Given the description of an element on the screen output the (x, y) to click on. 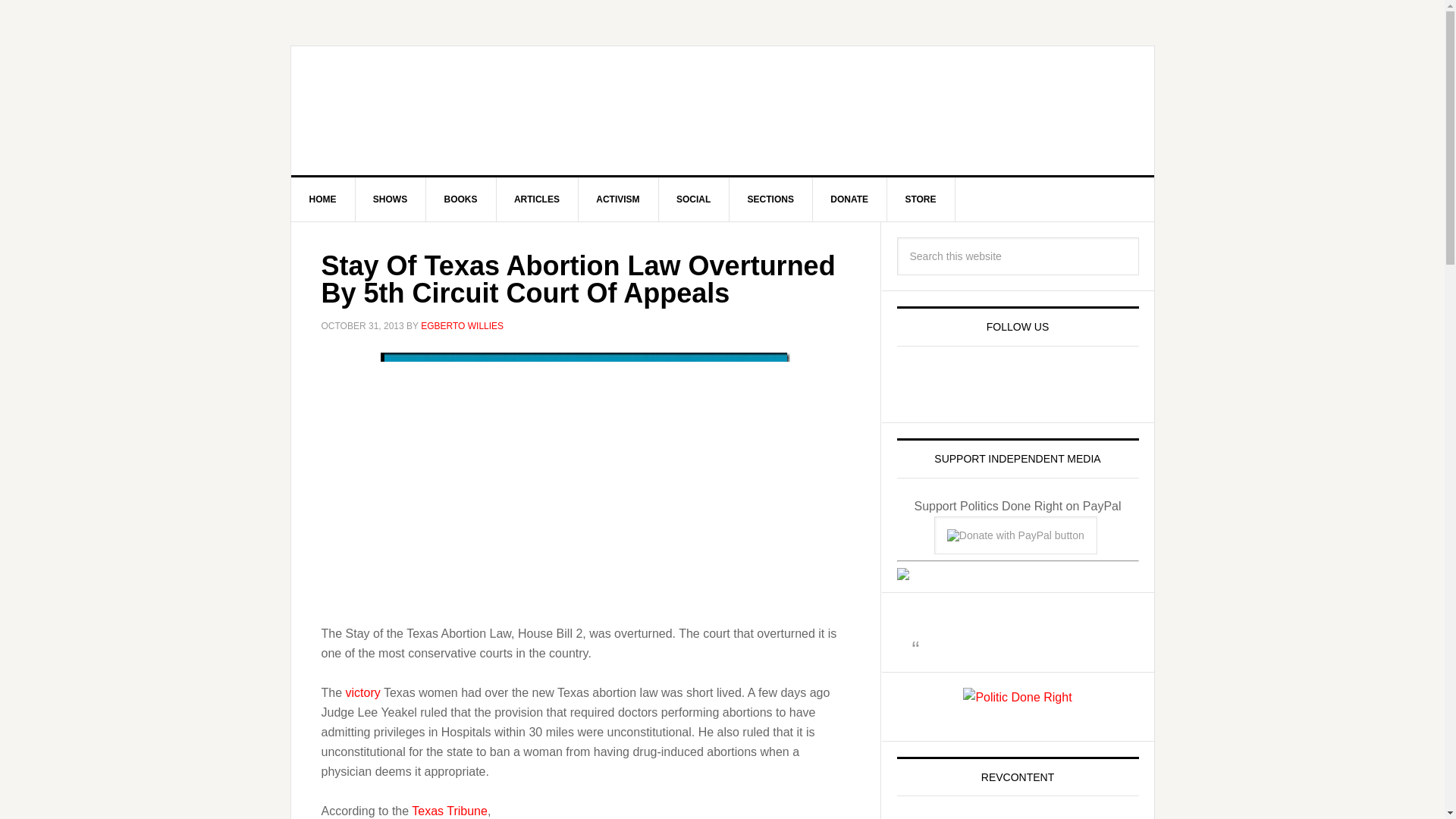
ARTICLES (537, 199)
EGBERTOWILLIES.COM (419, 110)
HOME (323, 199)
SOCIAL (693, 199)
SHOWS (390, 199)
ACTIVISM (618, 199)
BOOKS (461, 199)
Rachel Maddow Amy Hagstrom Miller Abortion (585, 472)
